Given the description of an element on the screen output the (x, y) to click on. 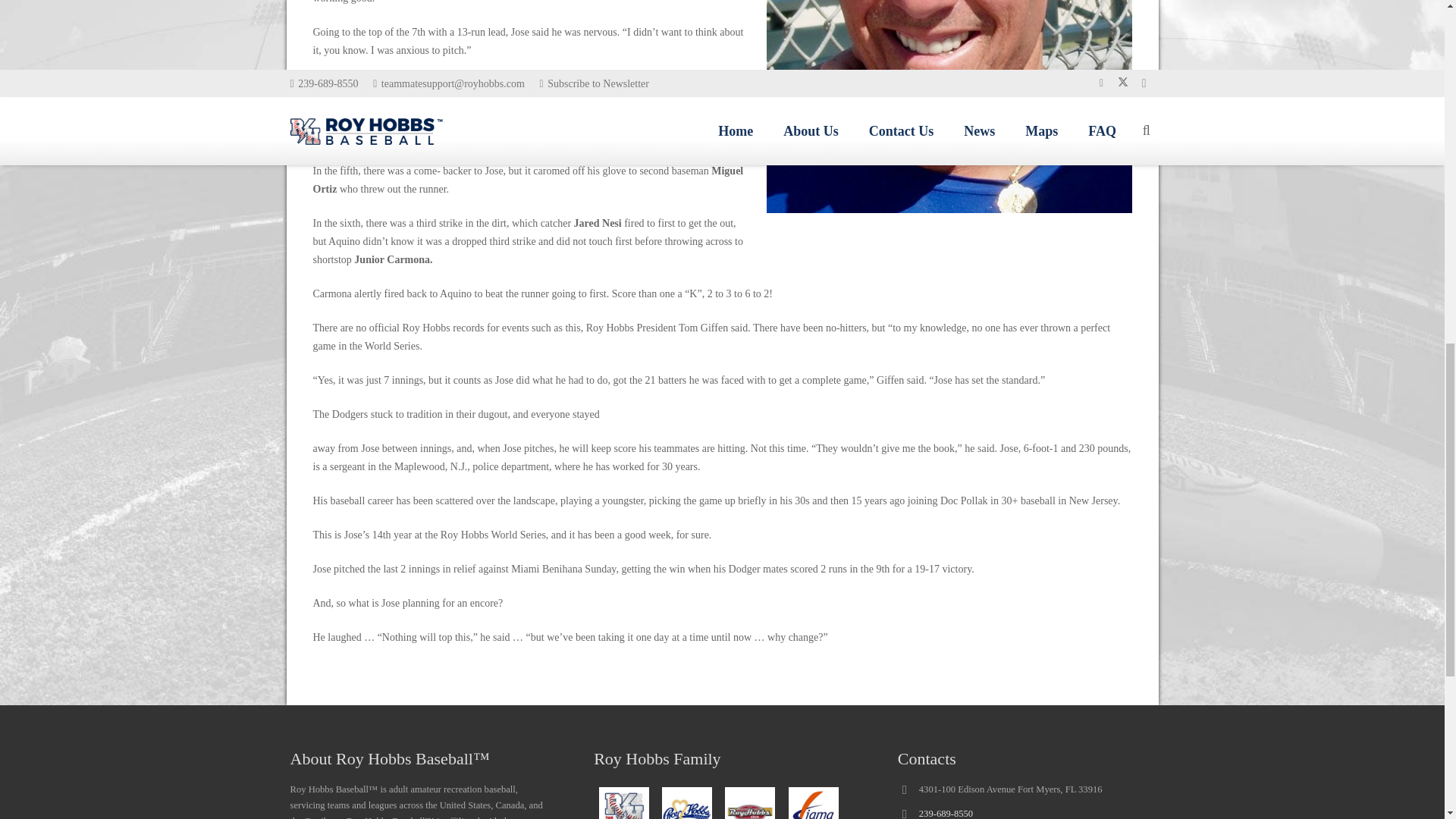
239-689-8550 (945, 813)
Back to top (1413, 26)
